Given the description of an element on the screen output the (x, y) to click on. 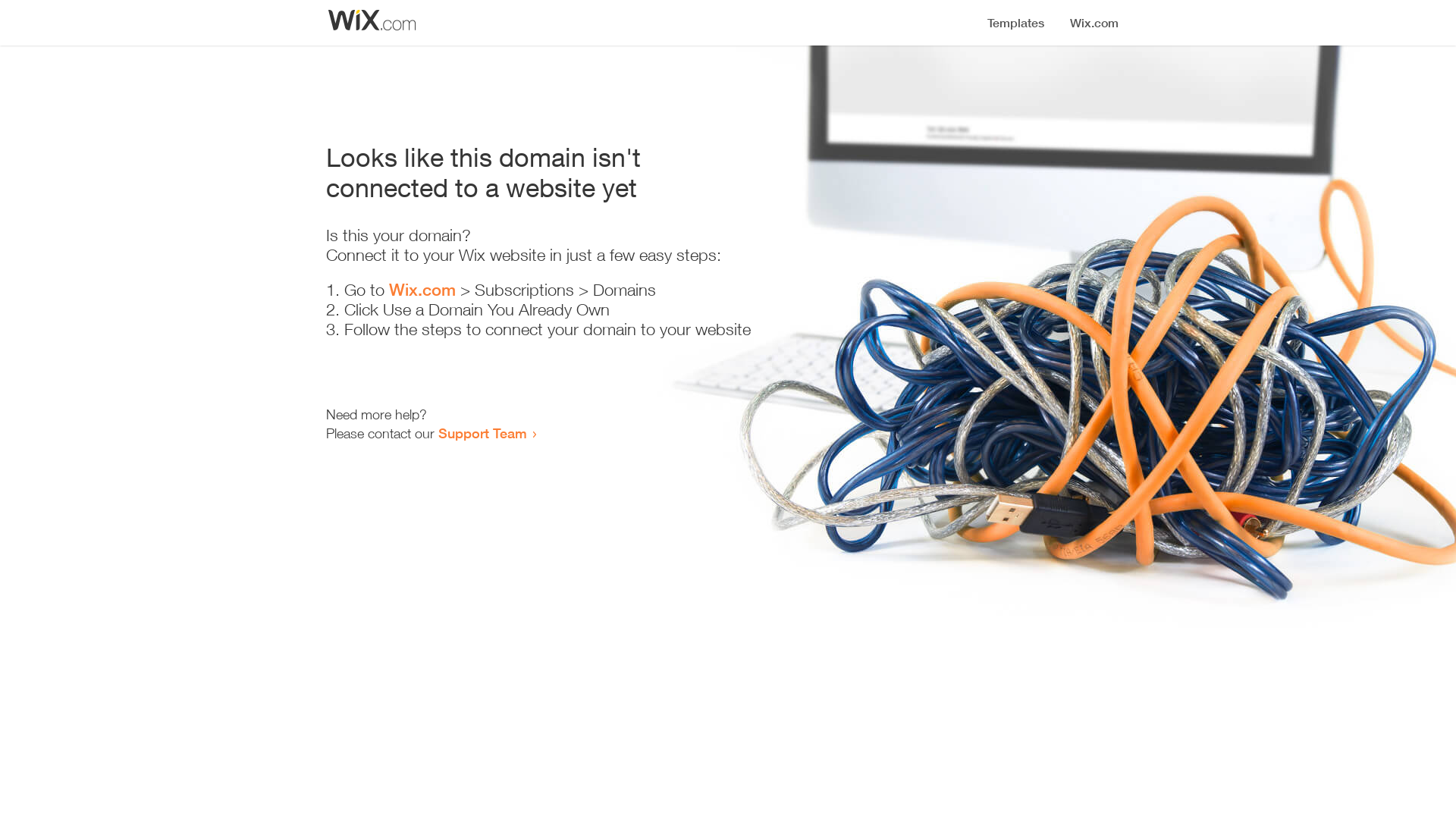
Wix.com Element type: text (422, 289)
Support Team Element type: text (482, 432)
